Given the description of an element on the screen output the (x, y) to click on. 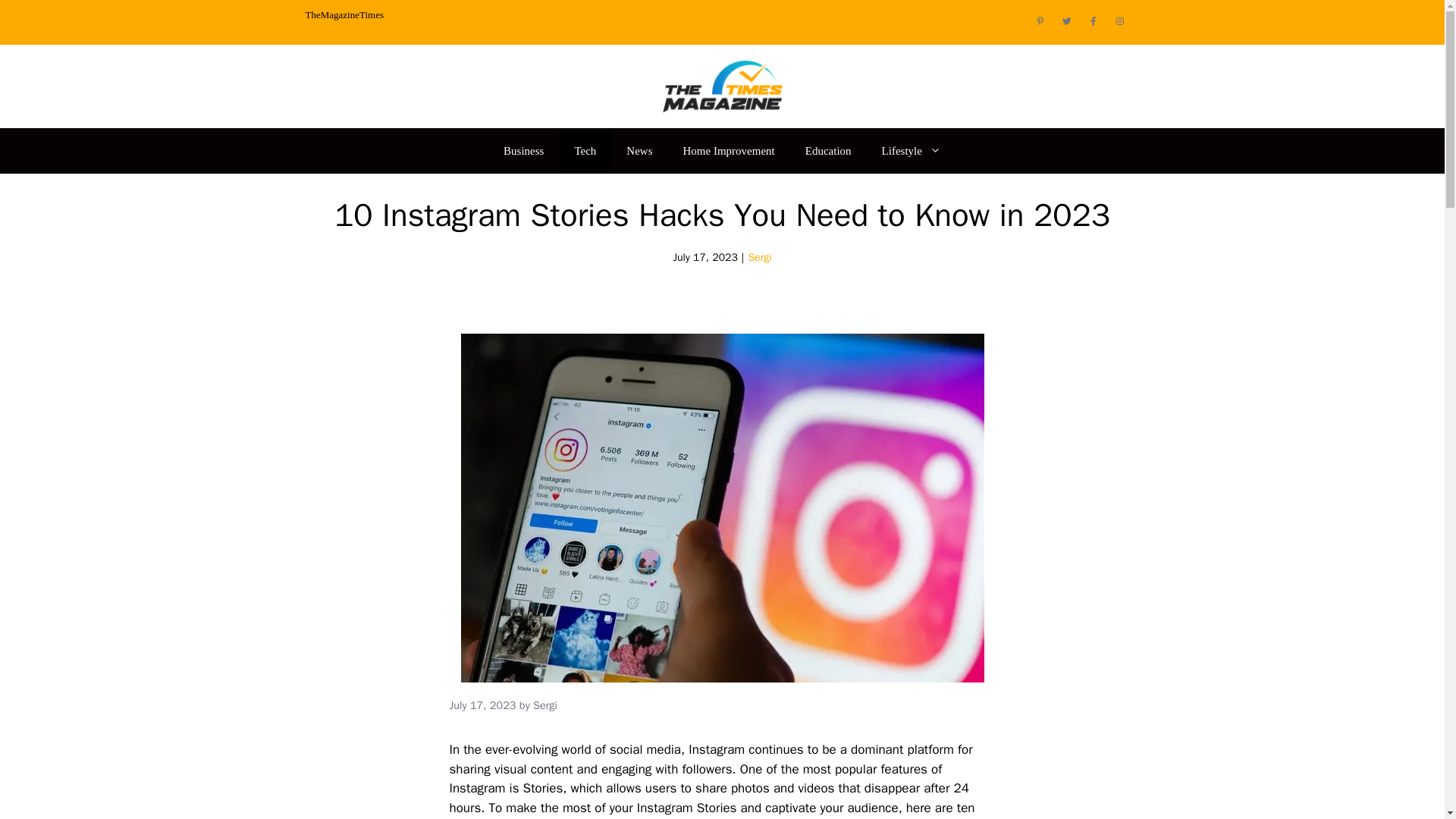
Lifestyle (911, 150)
Home Improvement (729, 150)
TheMagazineTimes (344, 14)
Business (523, 150)
Education (828, 150)
News (638, 150)
View all posts by Sergi (544, 704)
Sergi (544, 704)
Instagram Stories (686, 807)
Sergi (759, 256)
Tech (585, 150)
